Given the description of an element on the screen output the (x, y) to click on. 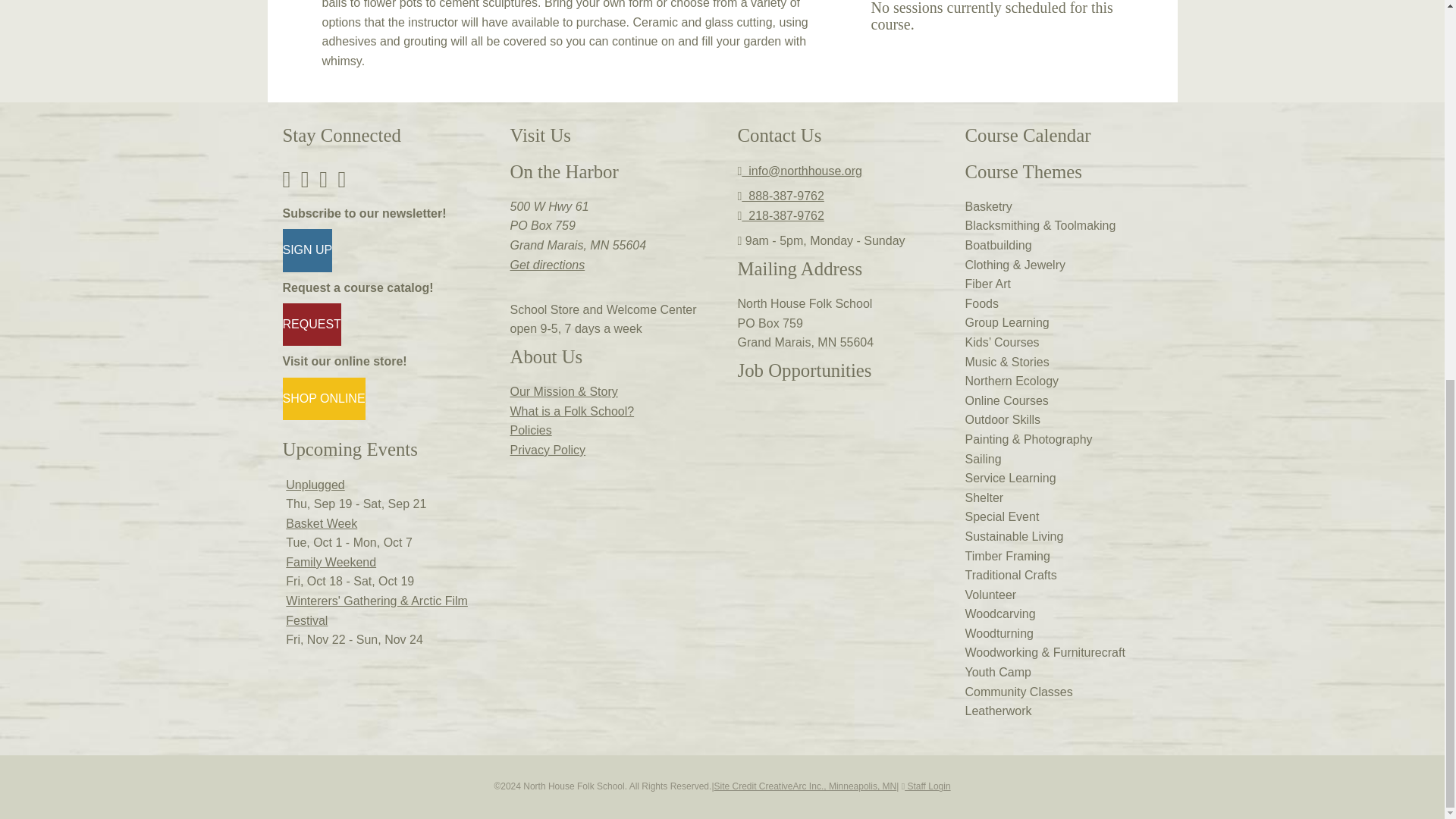
View event details for Basket Week (320, 522)
View event details for Family Weekend (330, 562)
View event details for Unplugged (314, 484)
